Given the description of an element on the screen output the (x, y) to click on. 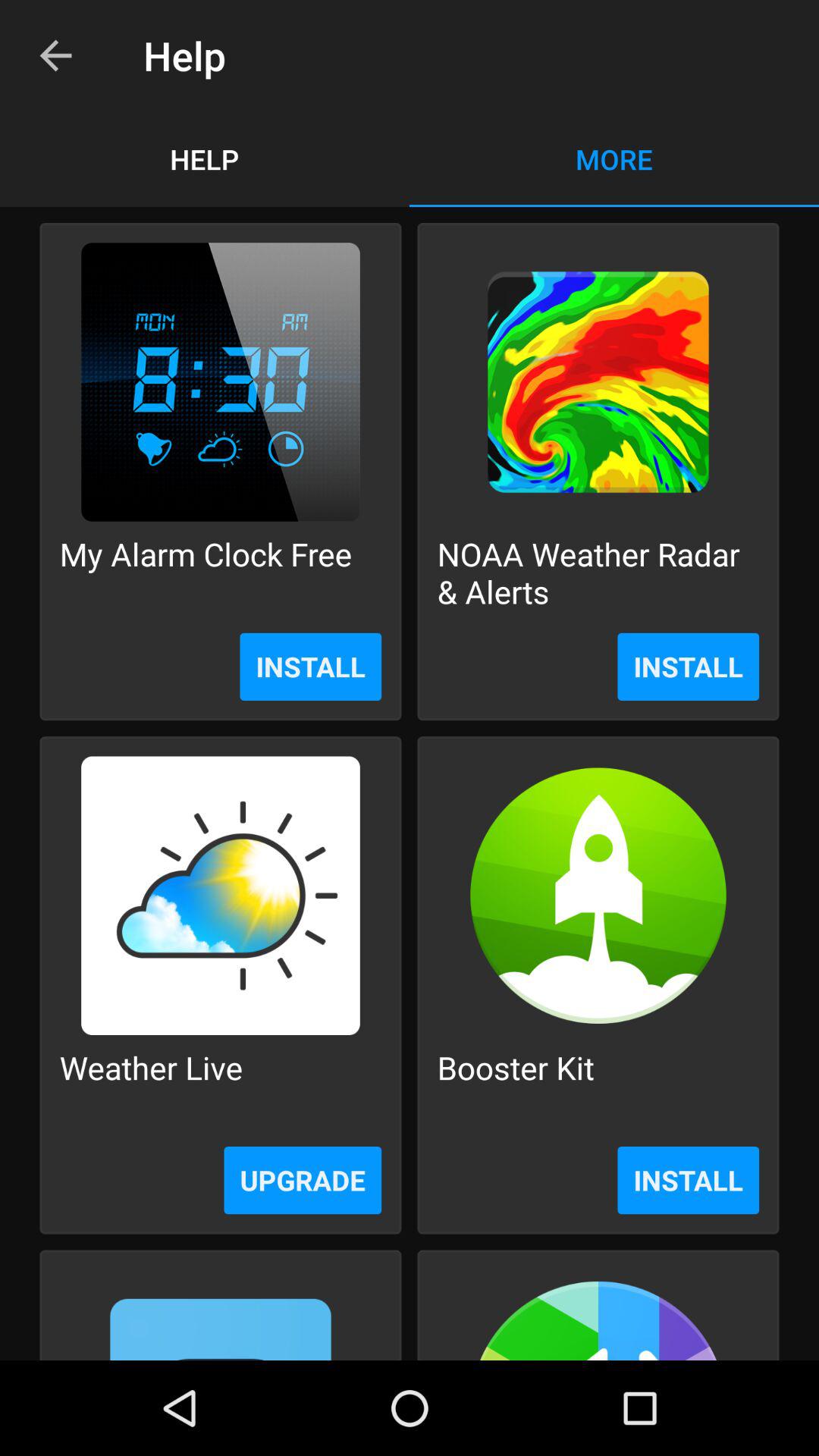
select icon next to booster kit icon (150, 1085)
